Given the description of an element on the screen output the (x, y) to click on. 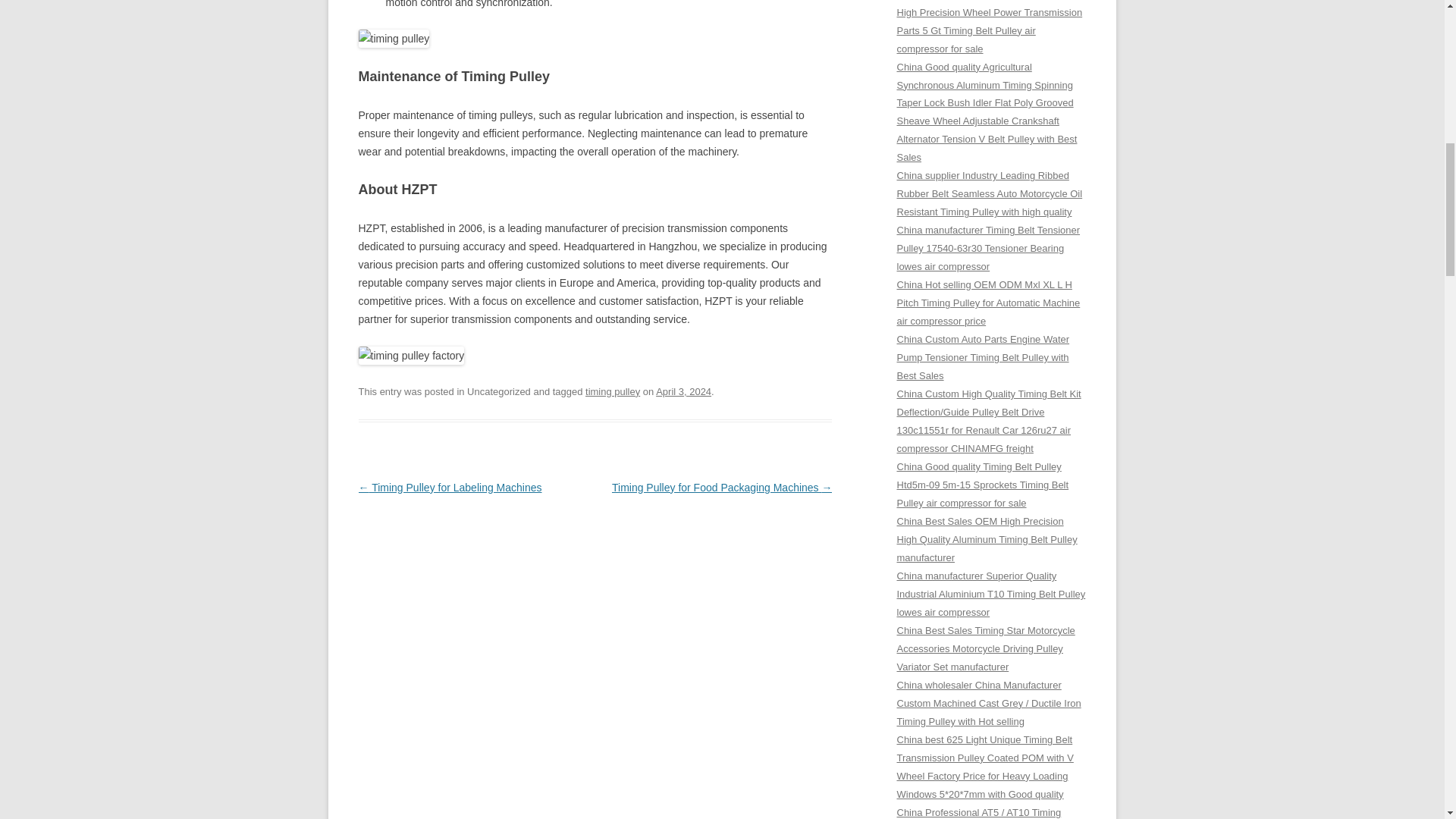
1:32 pm (683, 391)
April 3, 2024 (683, 391)
timing pulley (612, 391)
